Given the description of an element on the screen output the (x, y) to click on. 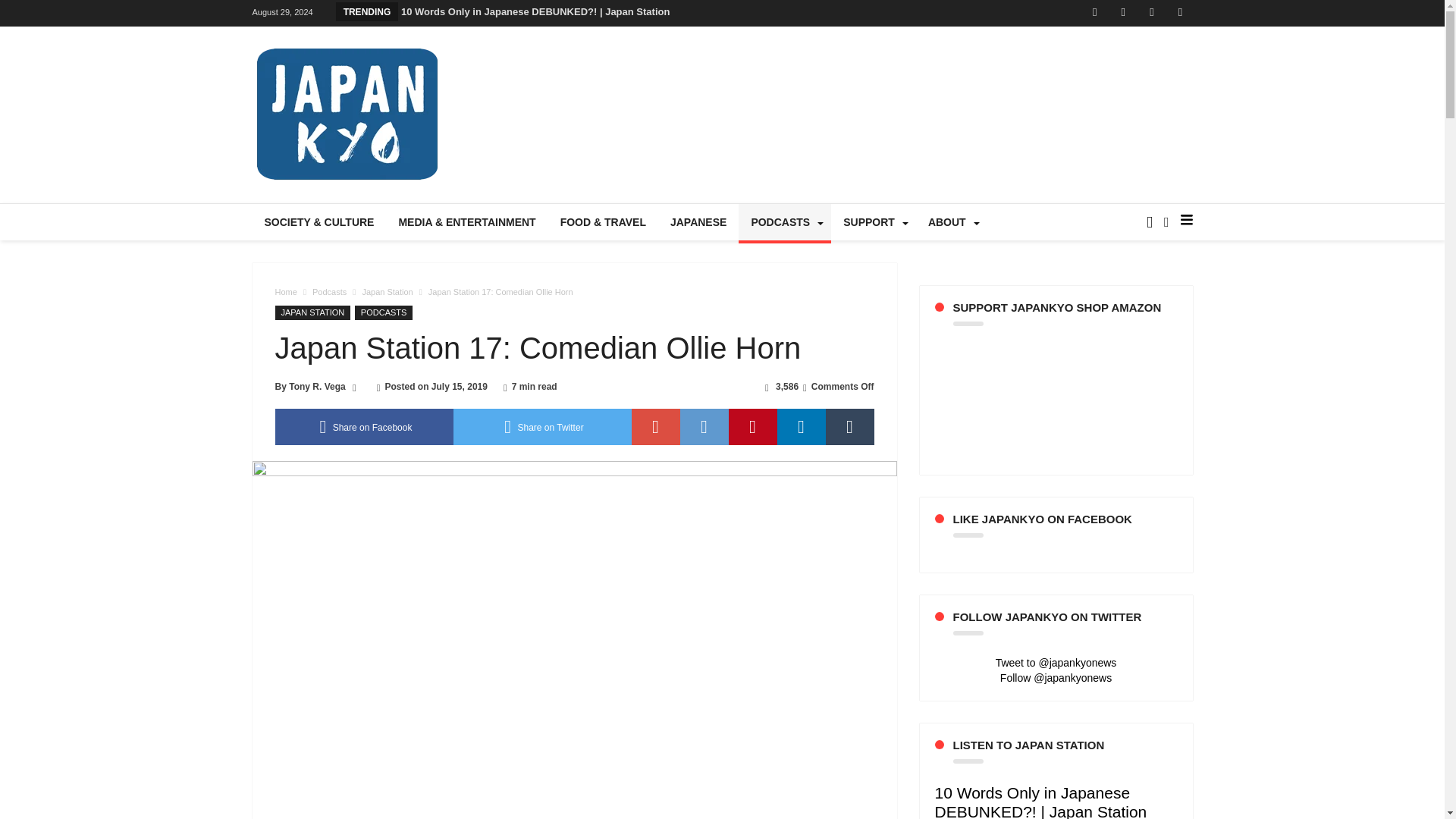
PODCASTS (784, 221)
Twitter (1122, 13)
JAPANESE (698, 221)
Youtube (1151, 13)
Apple (1179, 13)
Facebook (1094, 13)
